Given the description of an element on the screen output the (x, y) to click on. 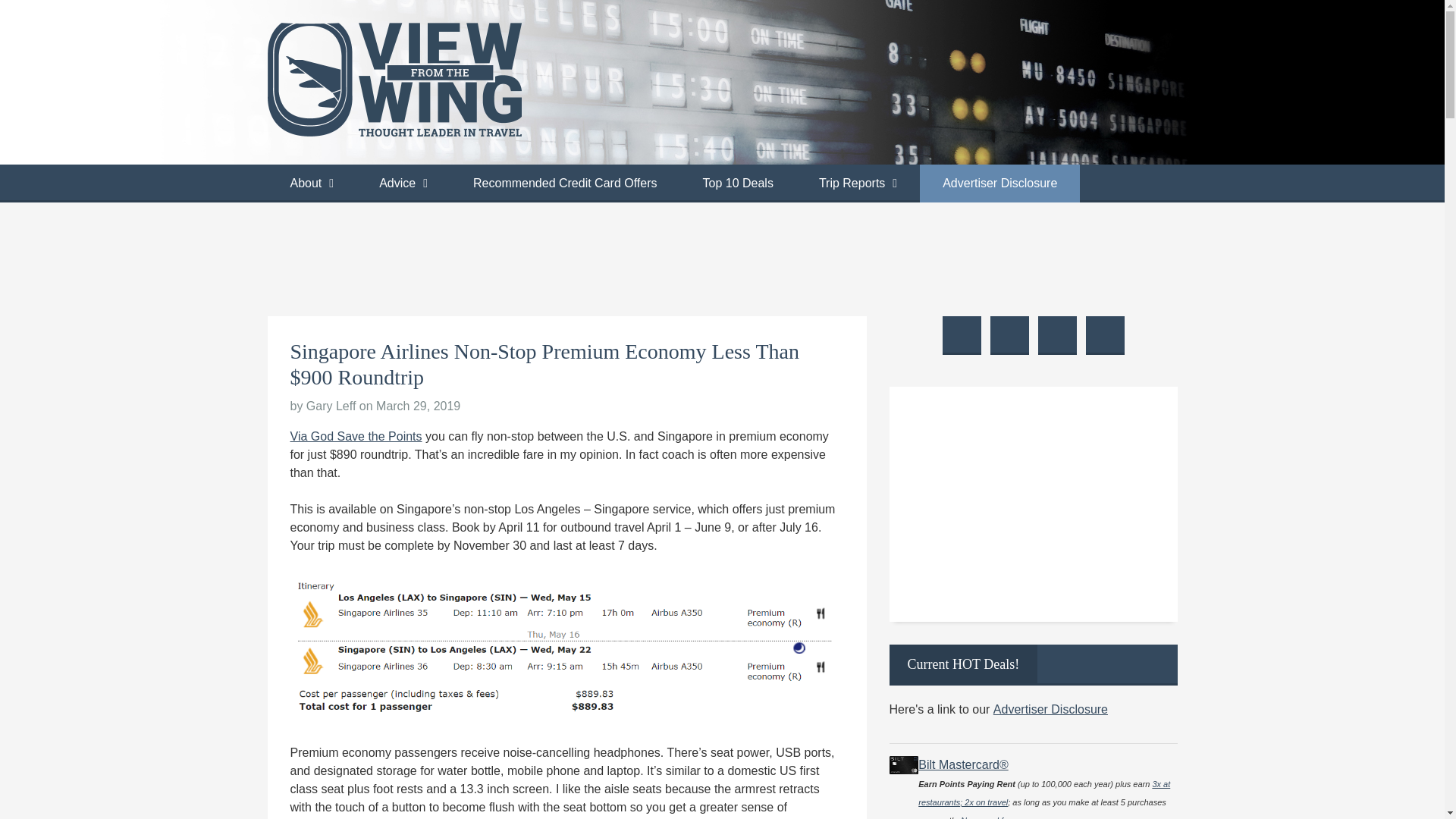
Gary Leff (330, 405)
Advice (402, 183)
Top 10 Deals (736, 183)
About (311, 183)
Via God Save the Points (355, 436)
Advertiser Disclosure (1000, 183)
Recommended Credit Card Offers (564, 183)
Trip Reports (858, 183)
